Given the description of an element on the screen output the (x, y) to click on. 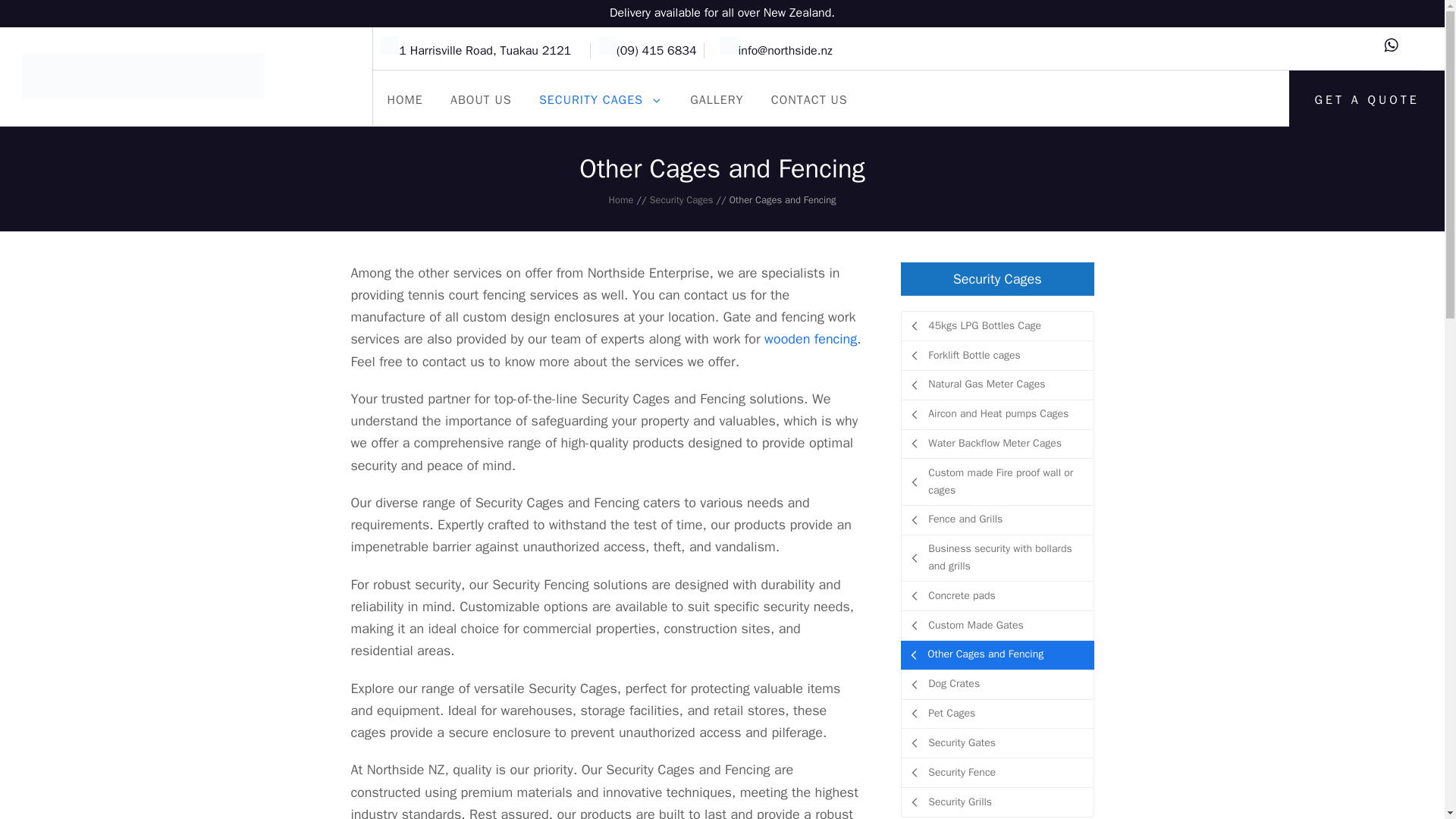
Forklift Bottle cages (997, 355)
ABOUT US (480, 100)
GALLERY (717, 100)
Security Cages (681, 200)
Home (620, 200)
Aircon and Heat pumps Cages (997, 414)
Natural Gas Meter Cages (997, 385)
wooden fencing (810, 338)
Fence and Grills (997, 520)
SECURITY CAGES (601, 100)
